Given the description of an element on the screen output the (x, y) to click on. 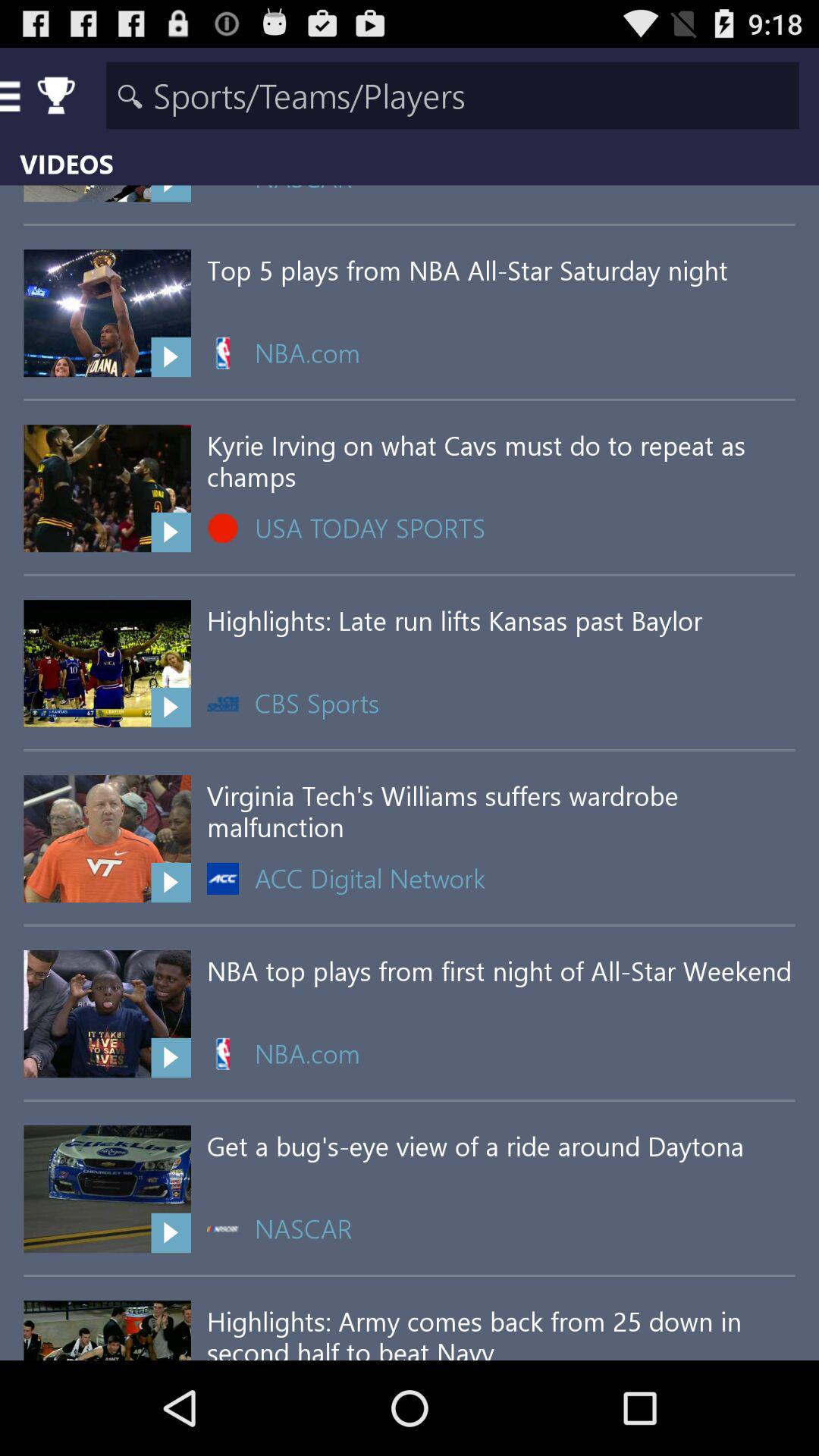
search for sports teams or players (452, 95)
